Given the description of an element on the screen output the (x, y) to click on. 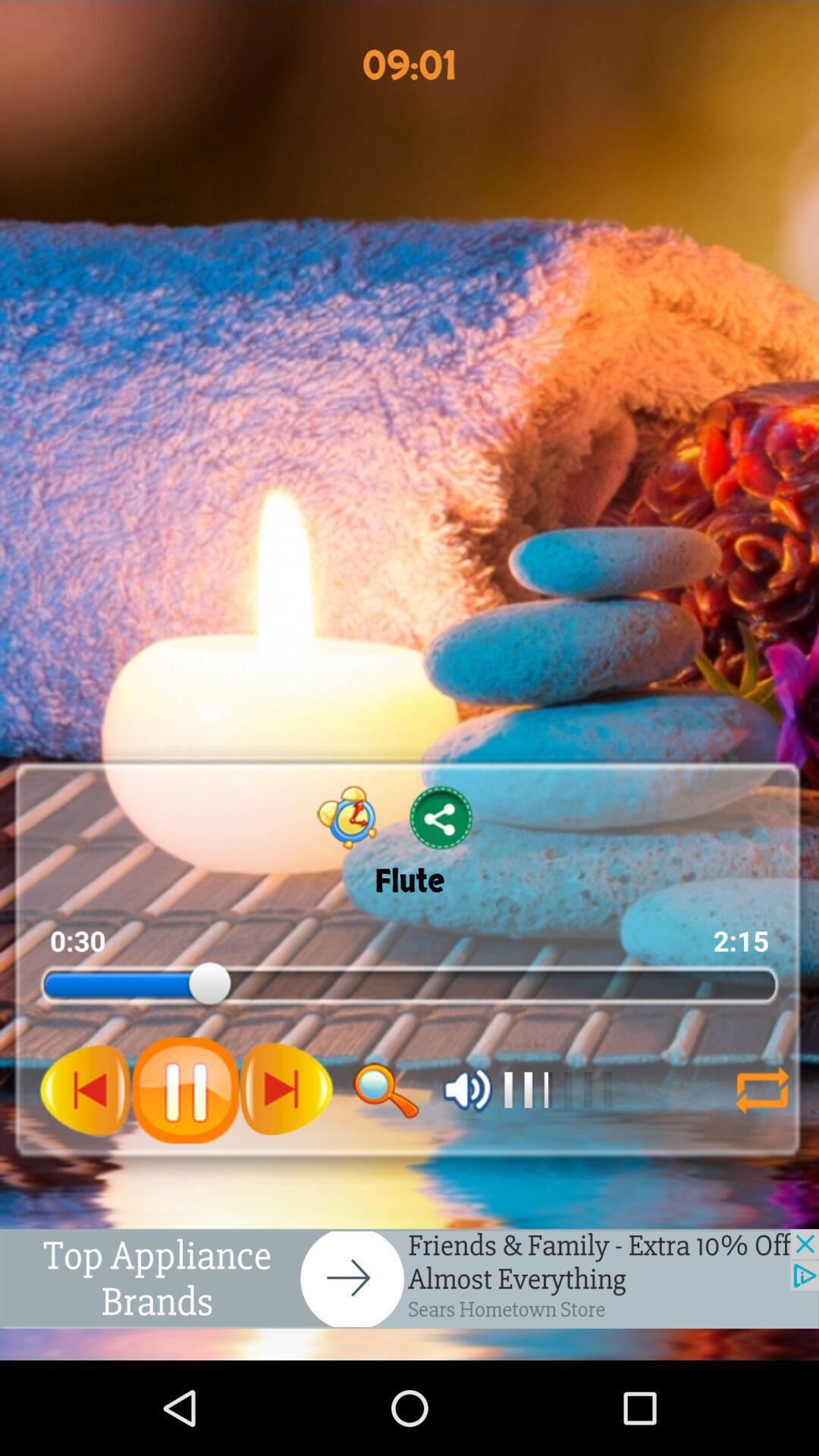
pause (185, 1090)
